Given the description of an element on the screen output the (x, y) to click on. 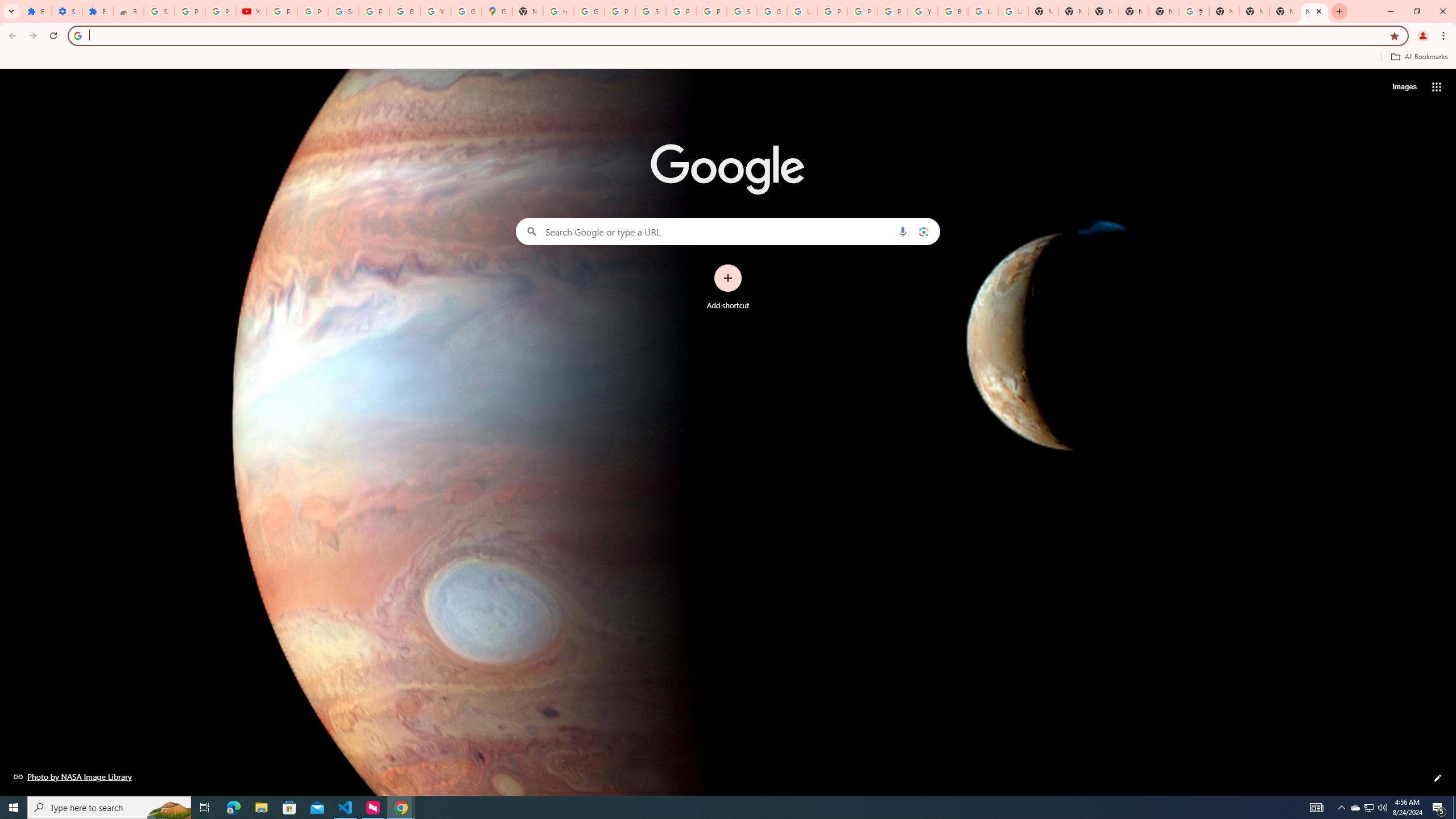
Photo by NASA Image Library (72, 776)
Sign in - Google Accounts (741, 11)
Google Account (404, 11)
